Given the description of an element on the screen output the (x, y) to click on. 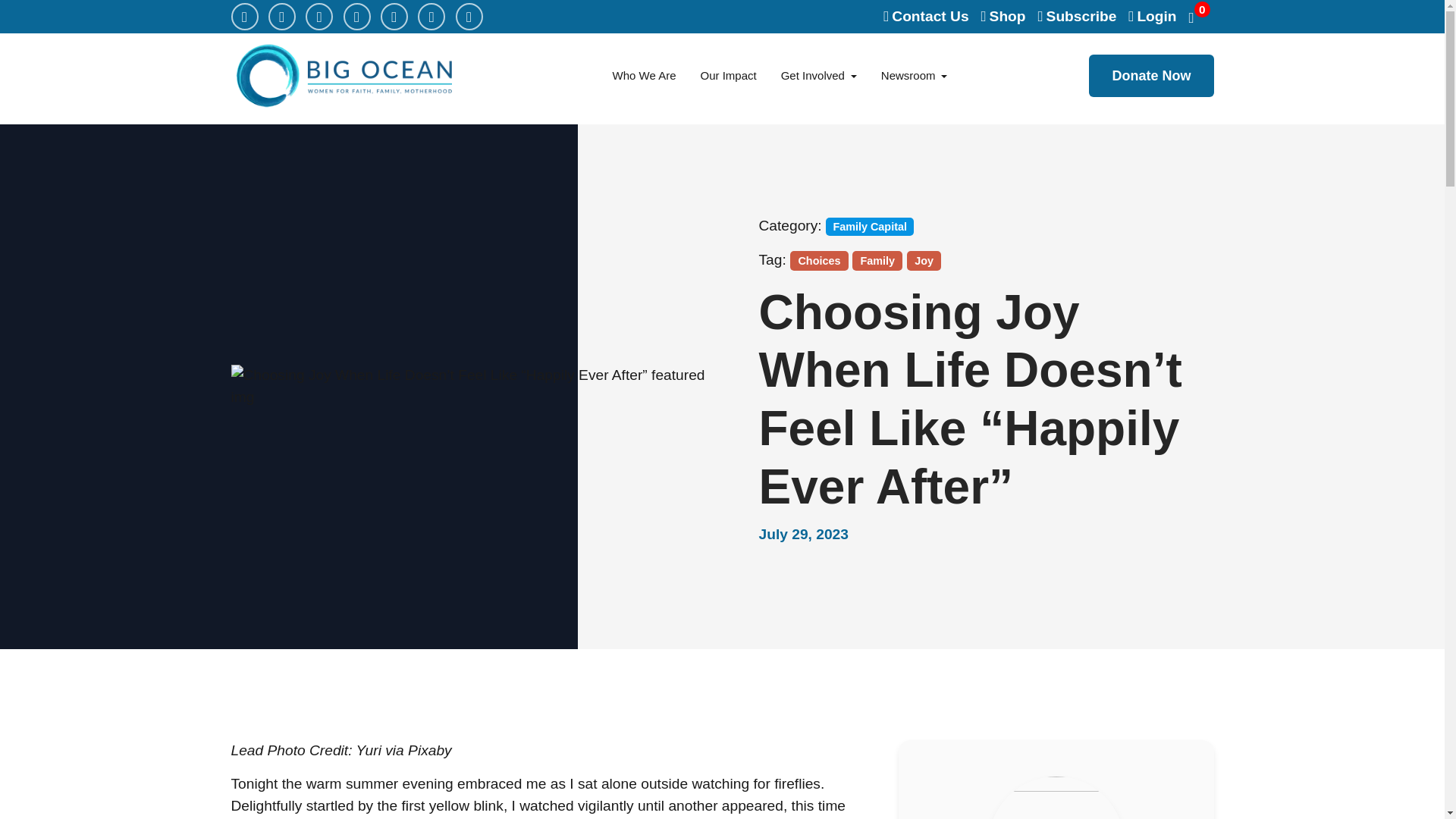
Newsroom (914, 75)
Our Impact (728, 75)
Our Impact (728, 75)
Who We Are (643, 75)
Subscribe (1077, 16)
Newsroom (914, 75)
Shop (1003, 16)
Donate Now (1150, 75)
0 (1201, 16)
Get Involved (818, 75)
